Given the description of an element on the screen output the (x, y) to click on. 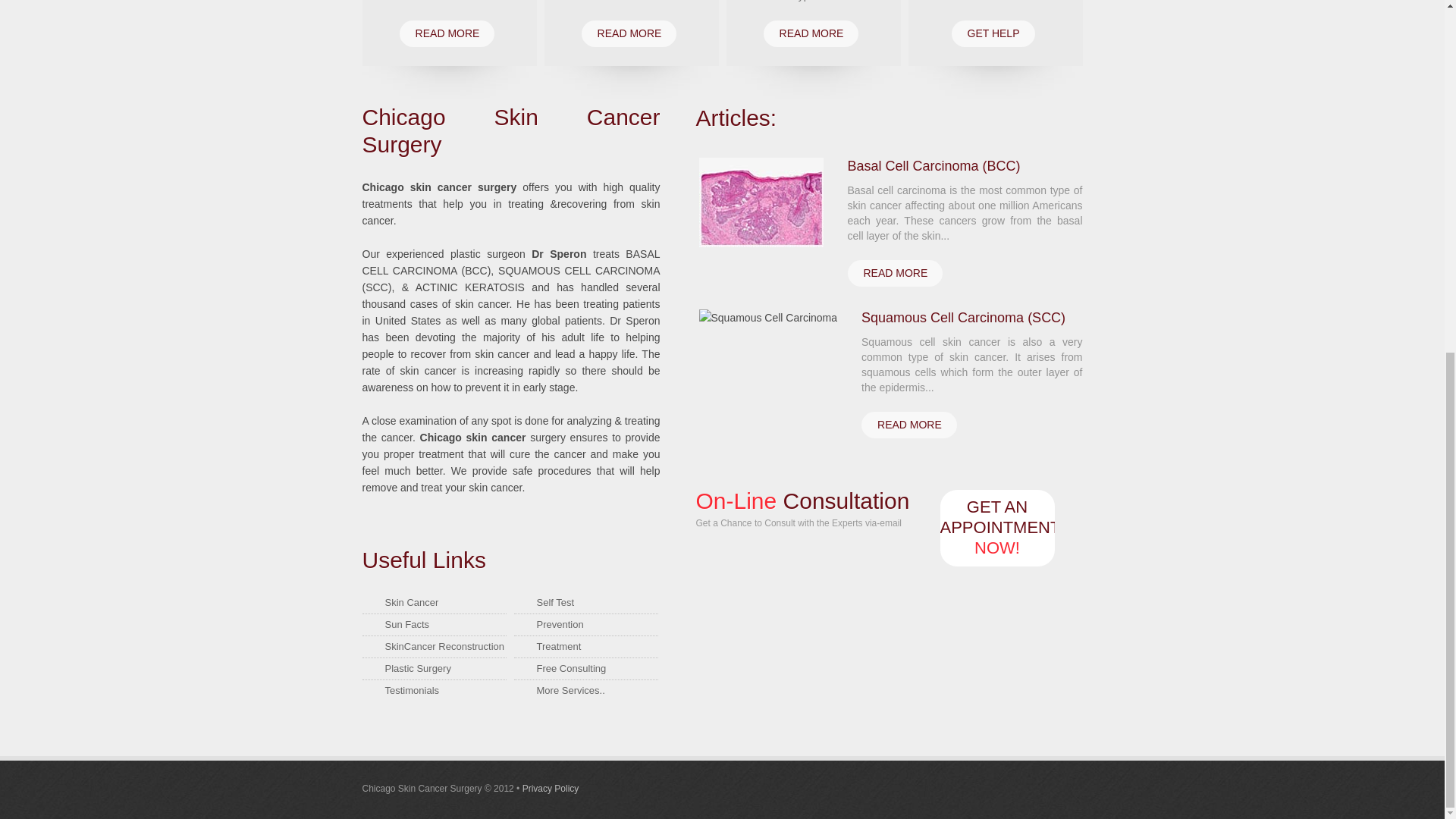
READ MORE (628, 33)
READ MORE (895, 273)
Self Test (556, 602)
Sun Facts (407, 624)
Free Consulting (572, 668)
GET HELP (991, 33)
Skin Cancer (412, 602)
SkinCancer Reconstruction (445, 645)
Prevention (560, 624)
Plastic Surgery (418, 668)
READ MORE (908, 424)
More Services.. (571, 690)
READ MORE (810, 33)
